Given the description of an element on the screen output the (x, y) to click on. 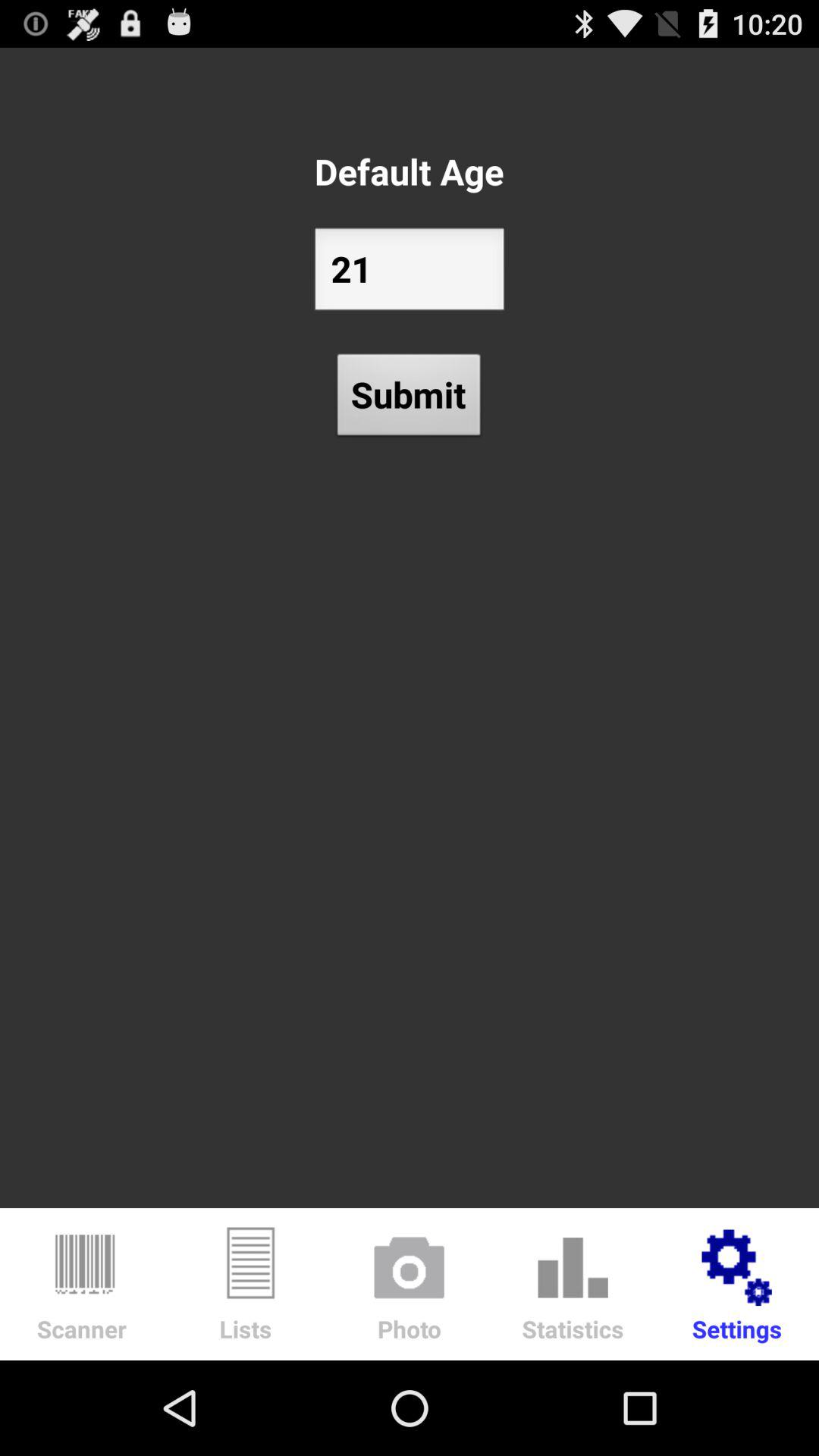
select a button 21 on page (409, 273)
